Given the description of an element on the screen output the (x, y) to click on. 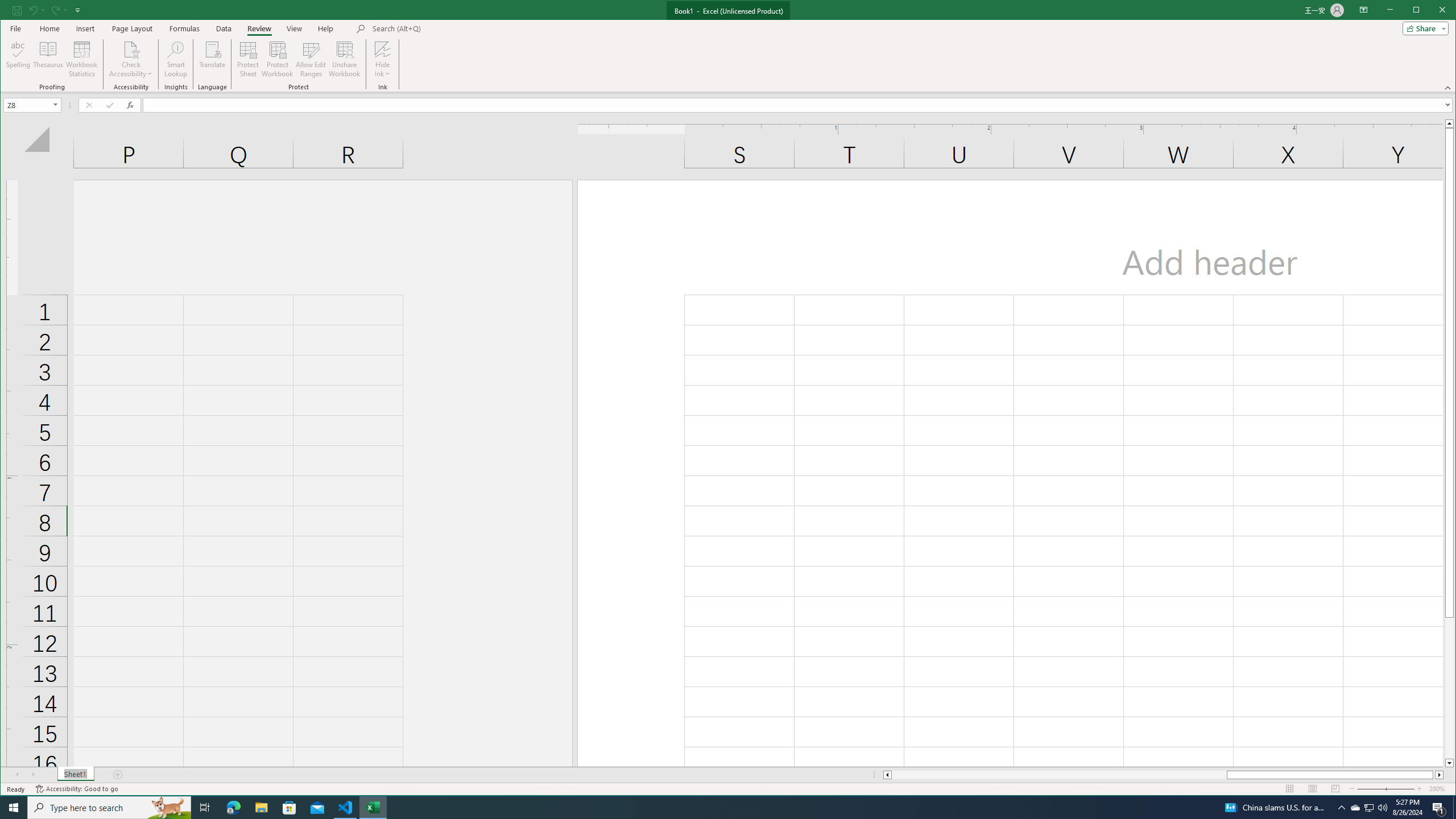
Excel - 1 running window (373, 807)
Spelling... (18, 59)
